Given the description of an element on the screen output the (x, y) to click on. 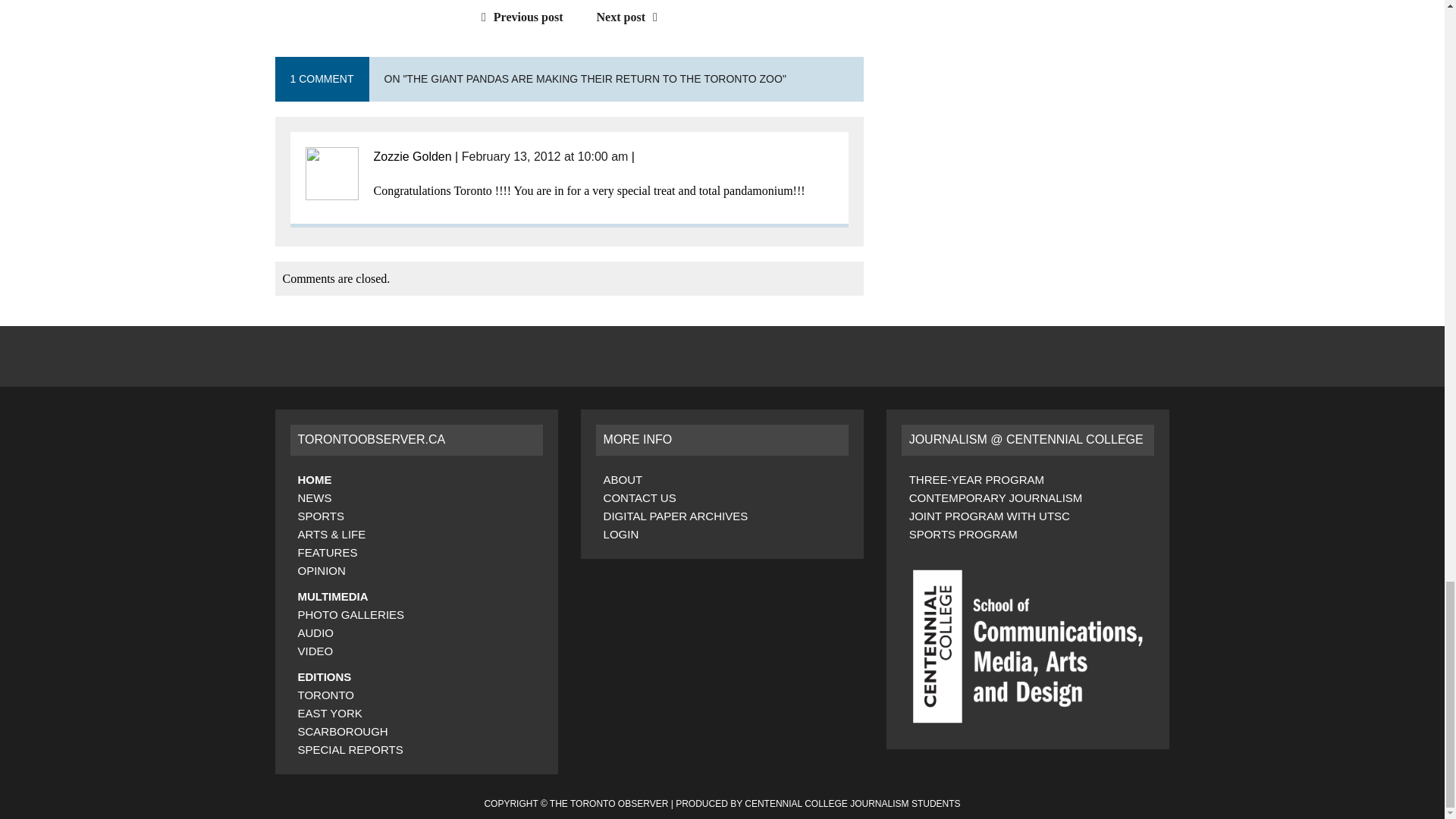
News (314, 497)
Home (314, 479)
